Given the description of an element on the screen output the (x, y) to click on. 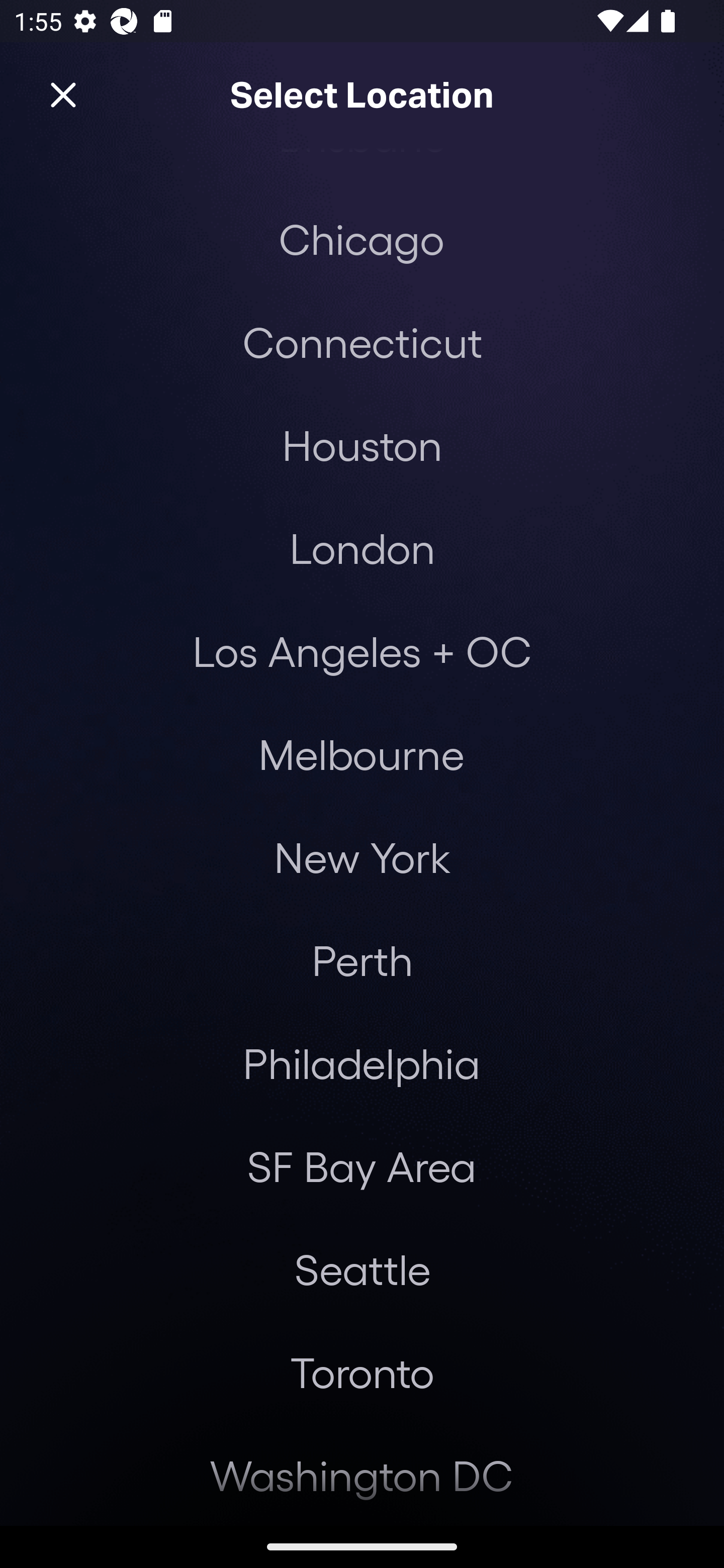
Close (62, 95)
Chicago (361, 239)
Connecticut (361, 341)
Houston (361, 445)
London (361, 547)
Los Angeles + OC (361, 650)
Melbourne (361, 753)
New York (361, 856)
Perth (361, 959)
Philadelphia (361, 1062)
SF Bay Area (361, 1166)
Seattle (361, 1269)
Toronto (361, 1371)
Washington DC (361, 1474)
